Given the description of an element on the screen output the (x, y) to click on. 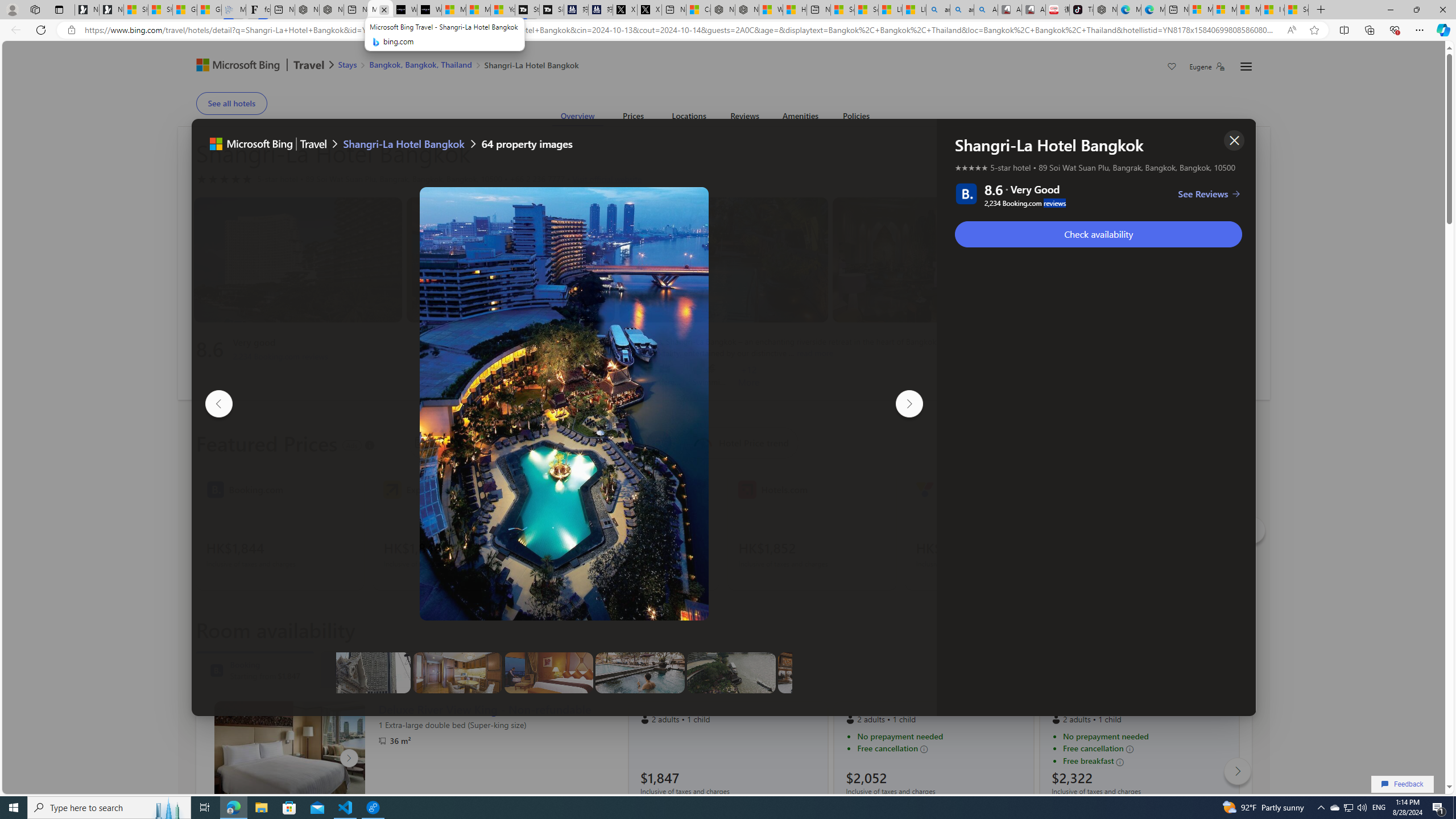
Huge shark washes ashore at New York City beach | Watch (793, 9)
Newsletter Sign Up (111, 9)
Gilma and Hector both pose tropical trouble for Hawaii (208, 9)
Microsoft Bing Travel - Shangri-La Hotel Bangkok (380, 9)
